Given the description of an element on the screen output the (x, y) to click on. 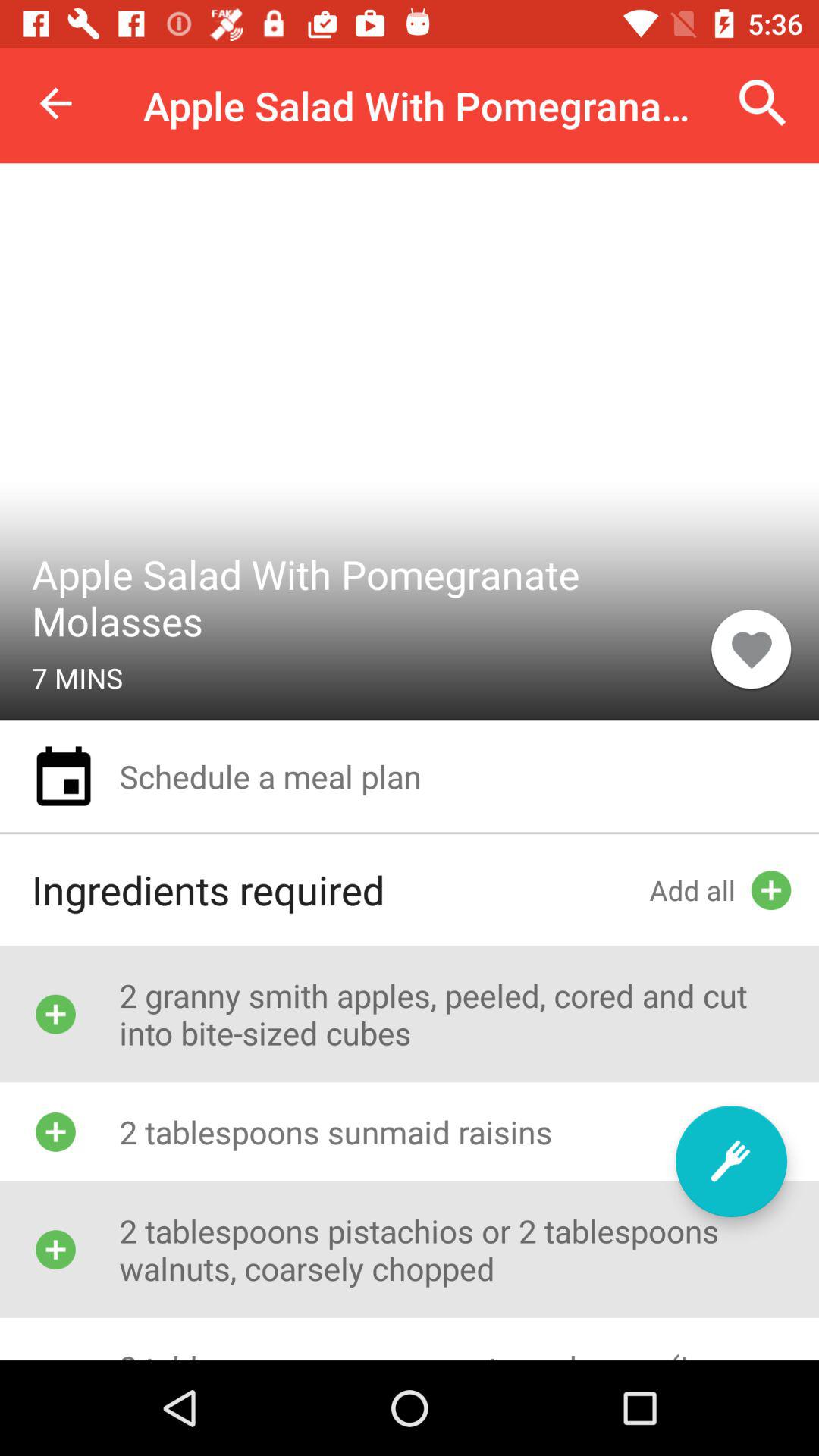
select icon above the schedule a meal item (751, 648)
